Given the description of an element on the screen output the (x, y) to click on. 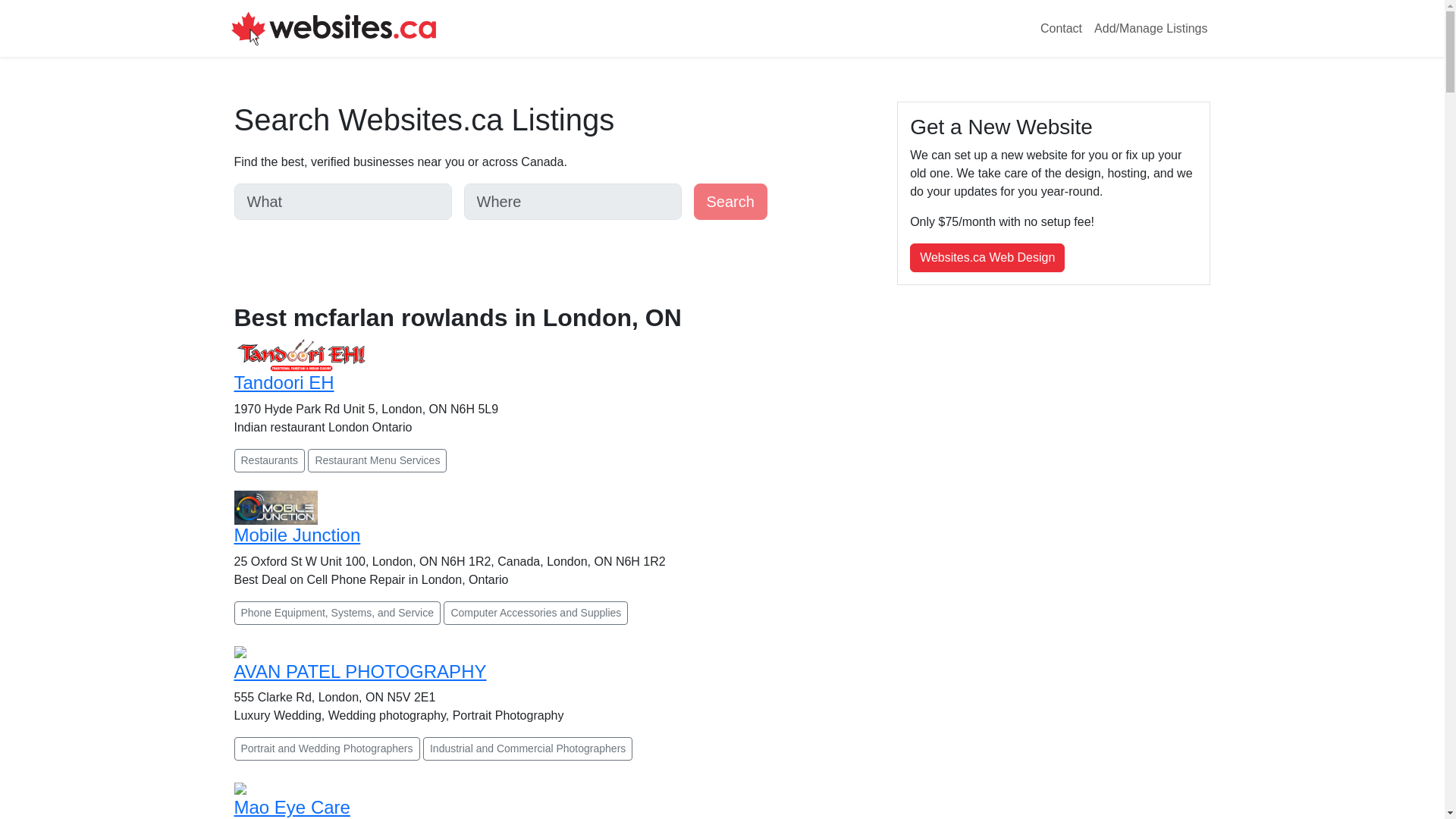
Search (730, 201)
Restaurant Menu Services (376, 460)
Tandoori EH (282, 382)
Websites.ca Web Design (987, 257)
Contact (1060, 28)
AVAN PATEL PHOTOGRAPHY (359, 670)
Mao Eye Care (290, 806)
Restaurants (268, 460)
Mobile Junction (295, 534)
Portrait and Wedding Photographers (325, 748)
